Given the description of an element on the screen output the (x, y) to click on. 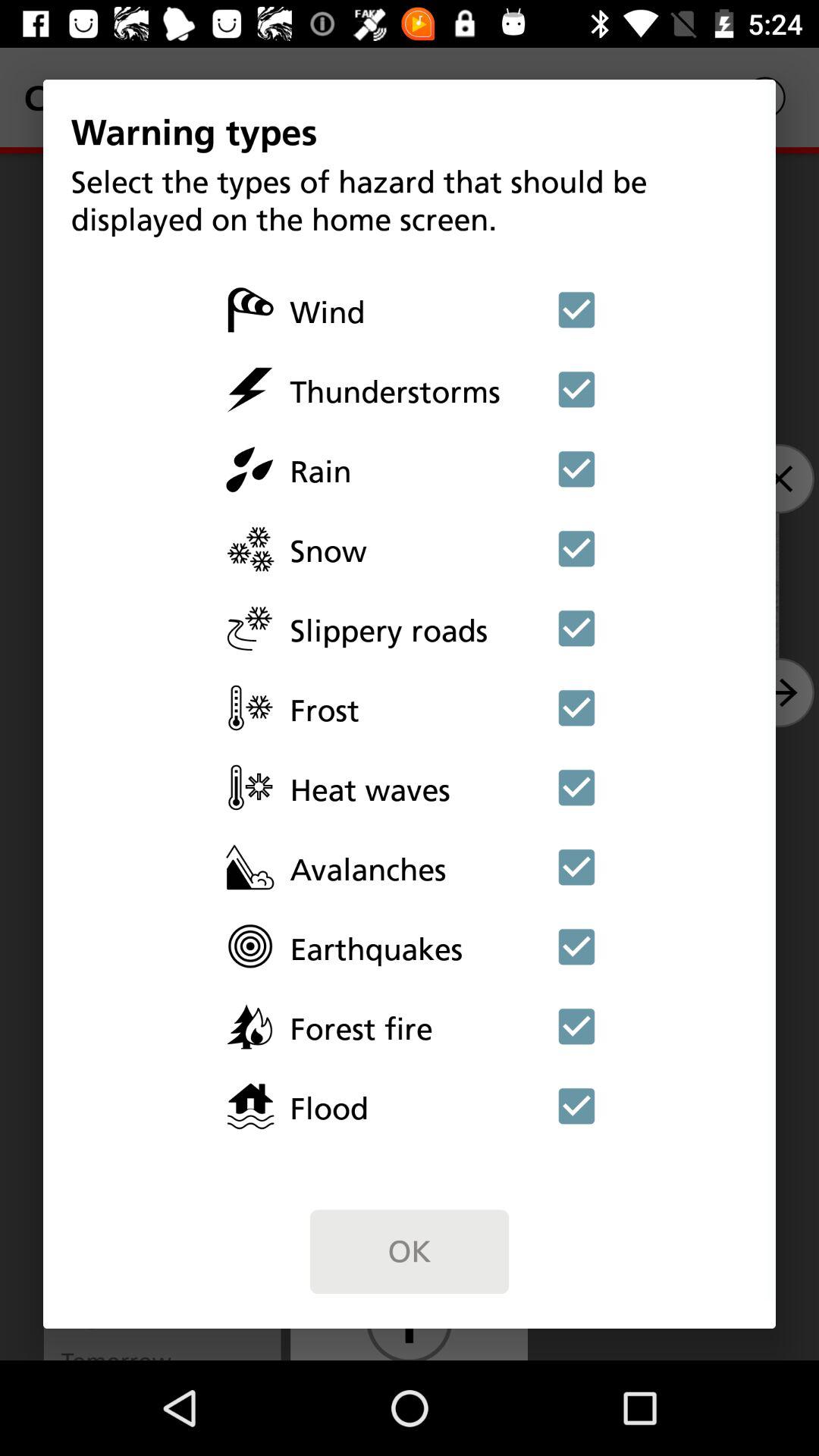
deselect option (576, 469)
